Given the description of an element on the screen output the (x, y) to click on. 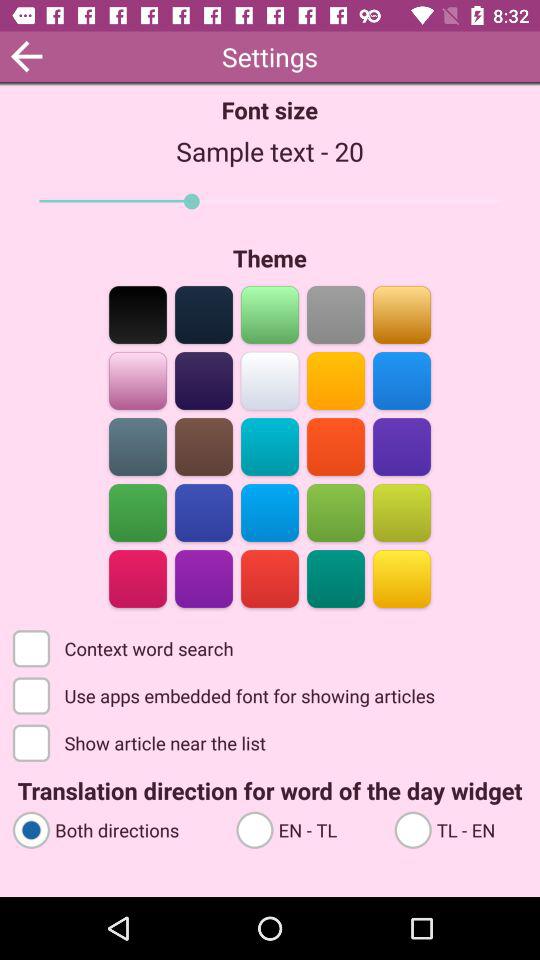
select theme color (269, 511)
